Given the description of an element on the screen output the (x, y) to click on. 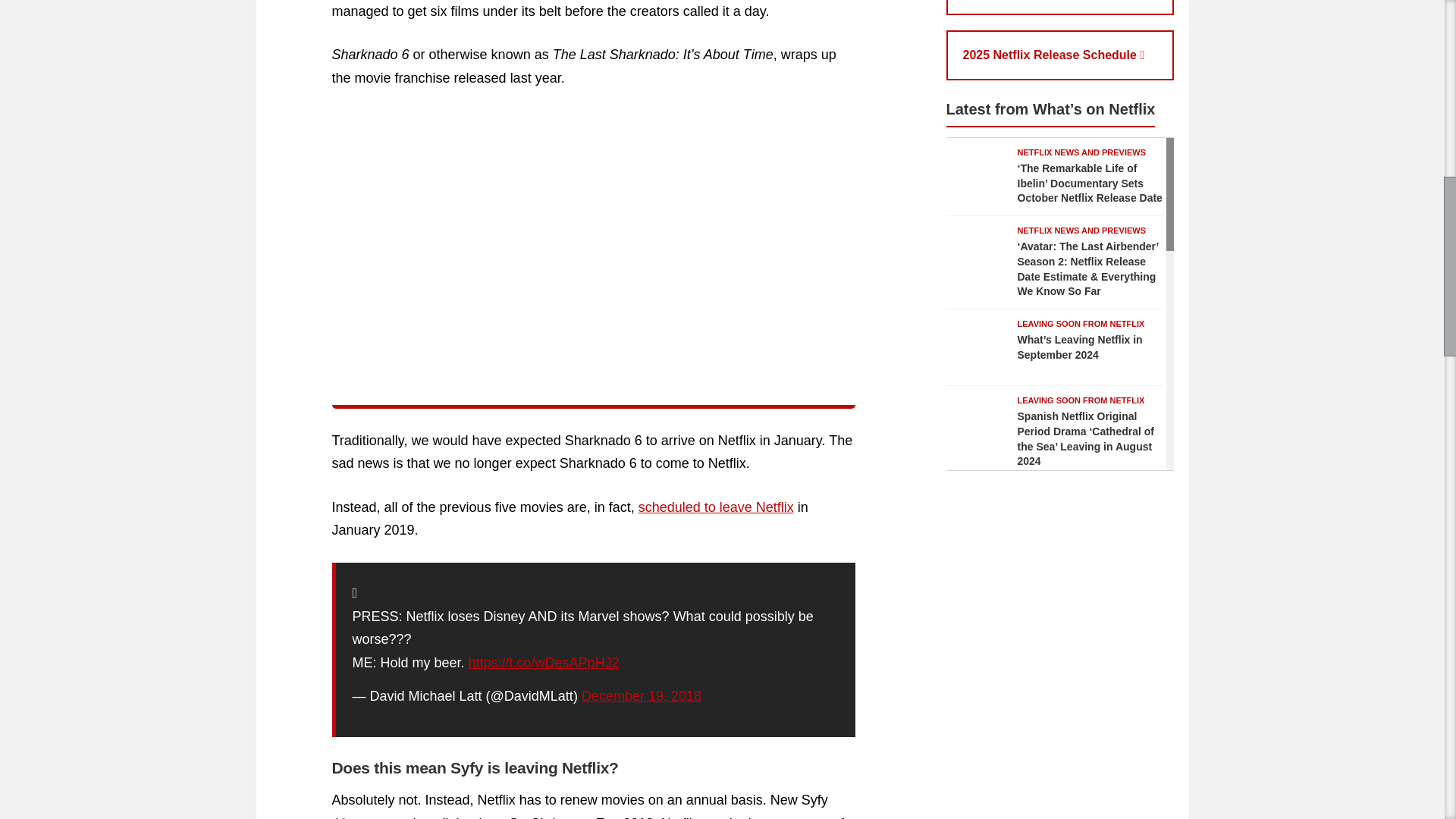
2025 Netflix Release Schedule (1059, 55)
2025 Netflix Release Schedule (1059, 55)
NETFLIX NEWS AND PREVIEWS (1082, 151)
scheduled to leave Netflix (716, 507)
2024 Netflix Release Schedule (1059, 7)
2024 Netflix Release Schedule (1059, 7)
December 19, 2018 (640, 695)
